Given the description of an element on the screen output the (x, y) to click on. 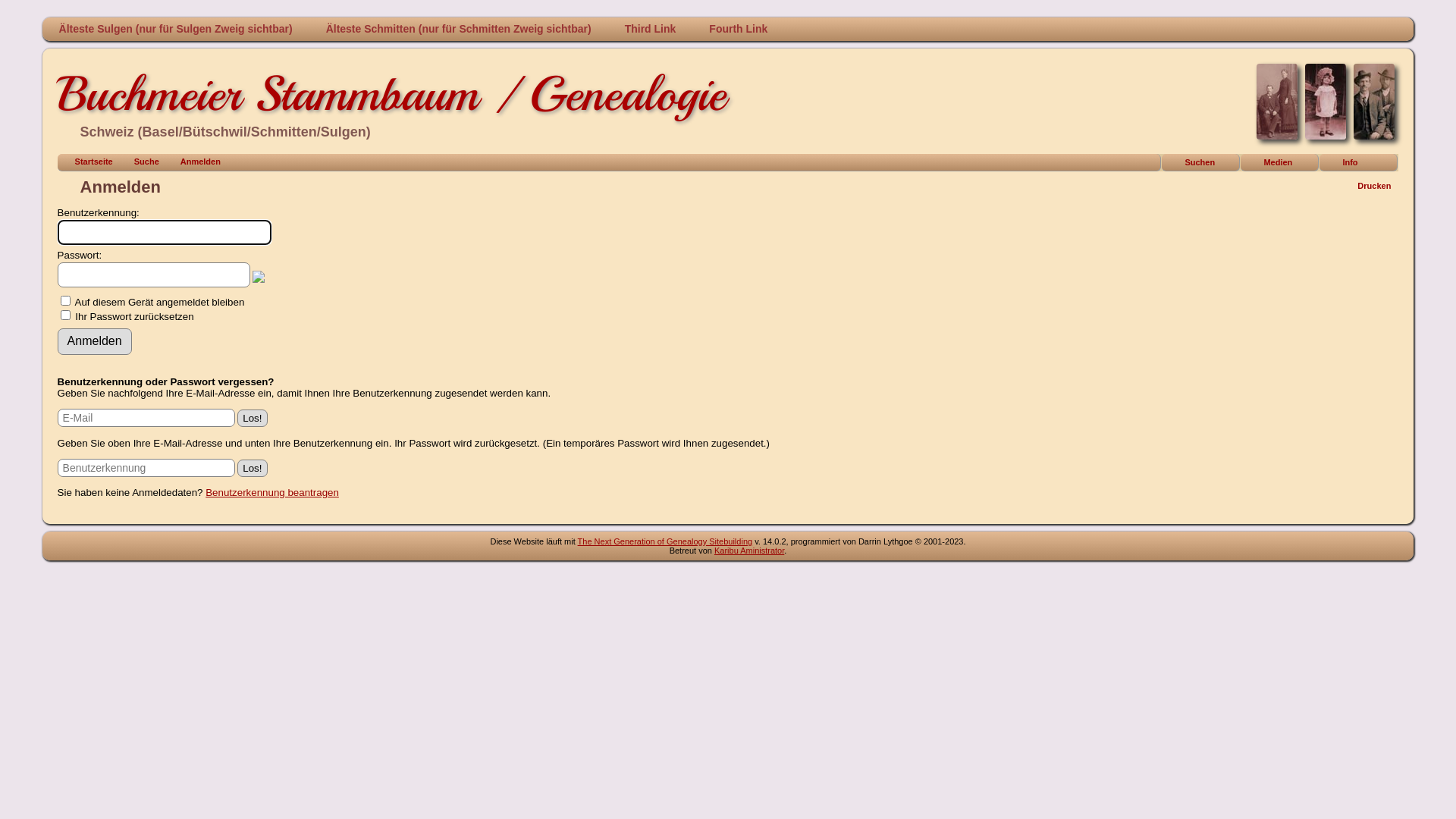
Suche Element type: text (139, 162)
Startseite Element type: text (86, 162)
The Next Generation of Genealogy Sitebuilding Element type: text (665, 541)
Suchen Element type: text (1200, 162)
Los! Element type: text (251, 417)
Los! Element type: text (251, 467)
Fourth Link Element type: text (738, 28)
Anmelden Element type: text (193, 162)
Karibu Aministrator Element type: text (749, 550)
Anmelden Element type: text (94, 341)
Medien Element type: text (1279, 162)
Benutzerkennung beantragen Element type: text (271, 492)
Buchmeier Stammbaum / Genealogie Element type: text (391, 93)
Info Element type: text (1358, 162)
1 Element type: text (65, 315)
Third Link Element type: text (650, 28)
Drucken Element type: text (1366, 186)
